Given the description of an element on the screen output the (x, y) to click on. 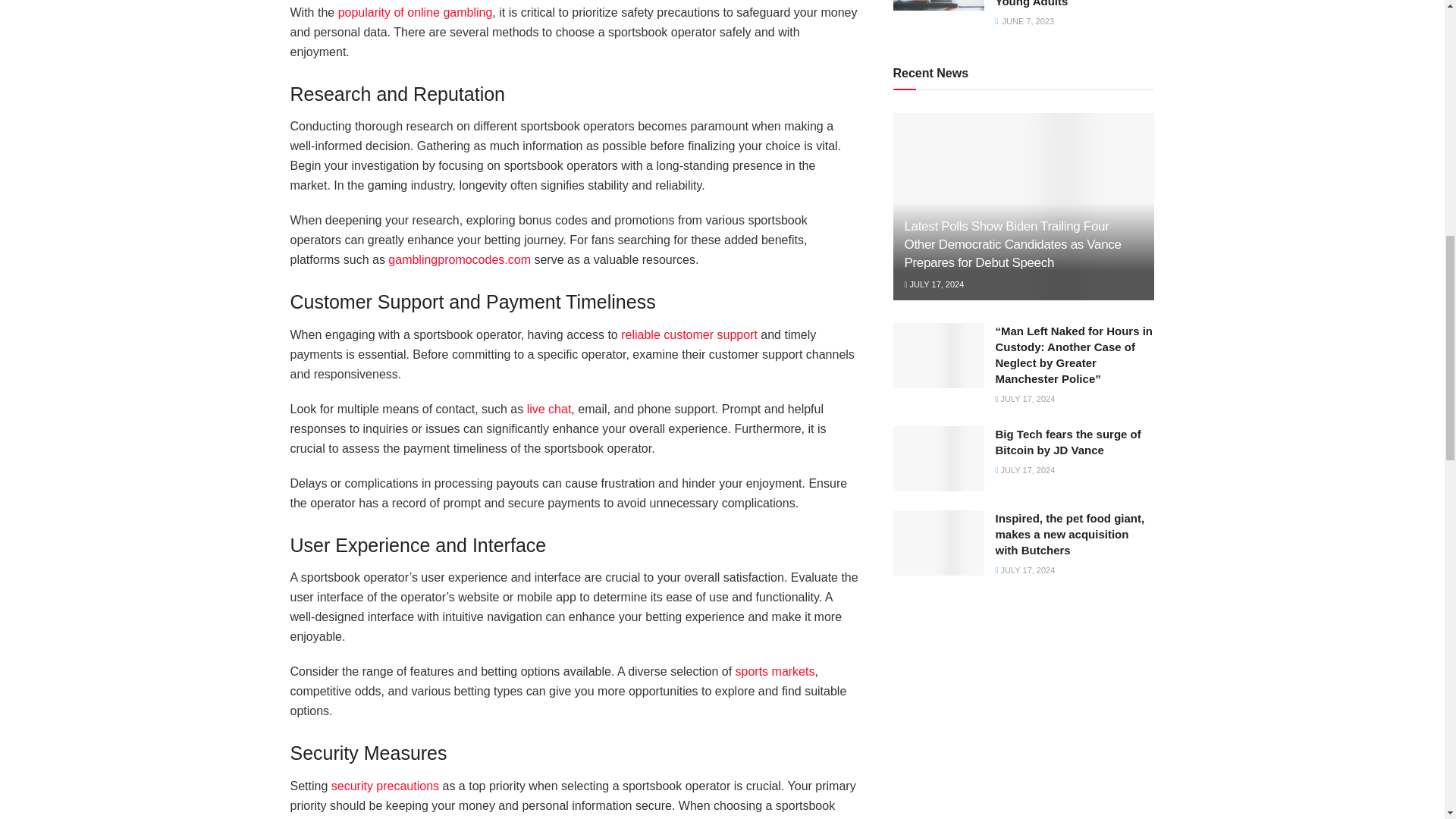
popularity of online gambling (415, 11)
gamblingpromocodes.com (459, 259)
reliable customer support (689, 334)
